Given the description of an element on the screen output the (x, y) to click on. 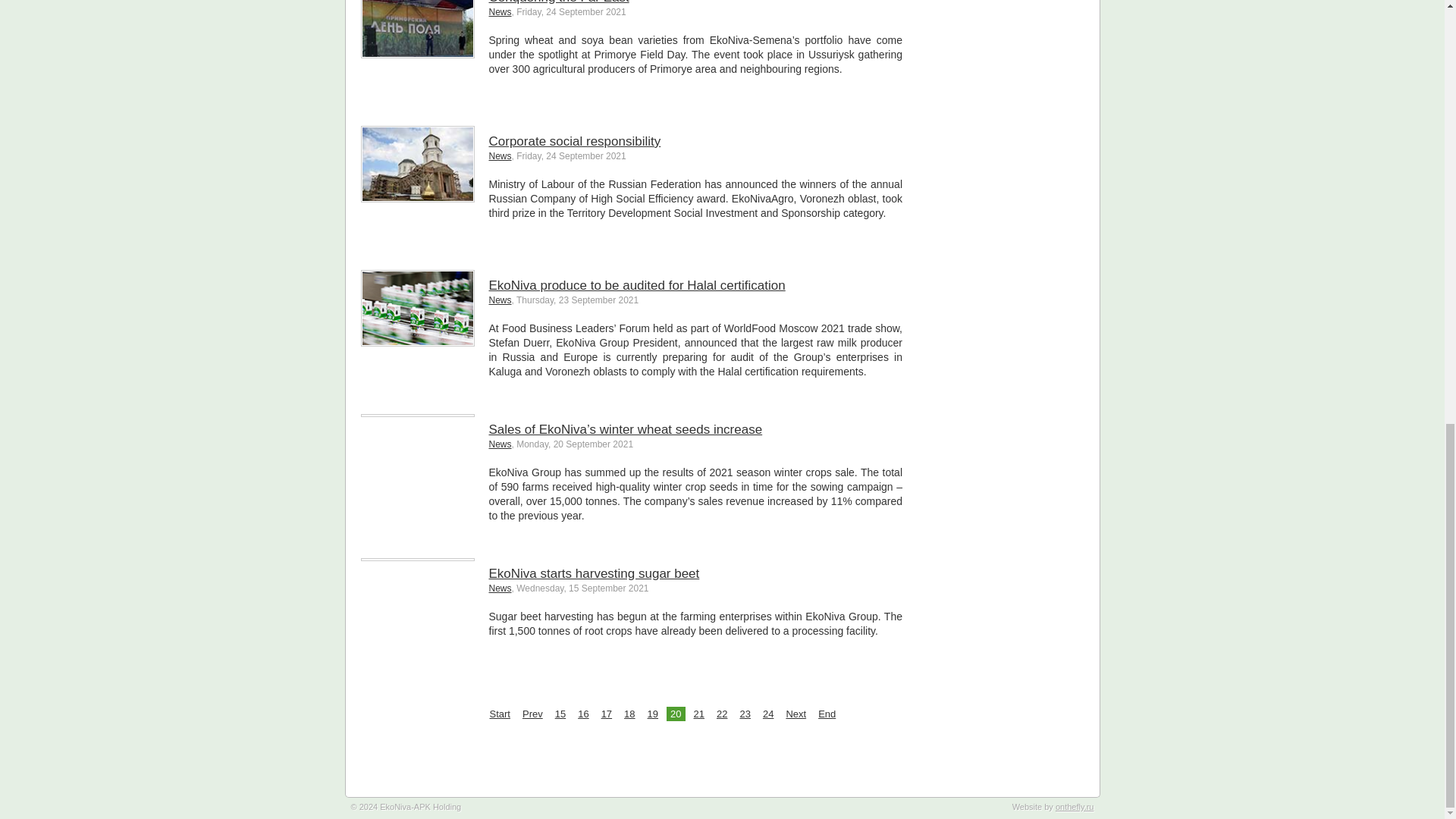
Start (498, 713)
Prev (532, 713)
